Given the description of an element on the screen output the (x, y) to click on. 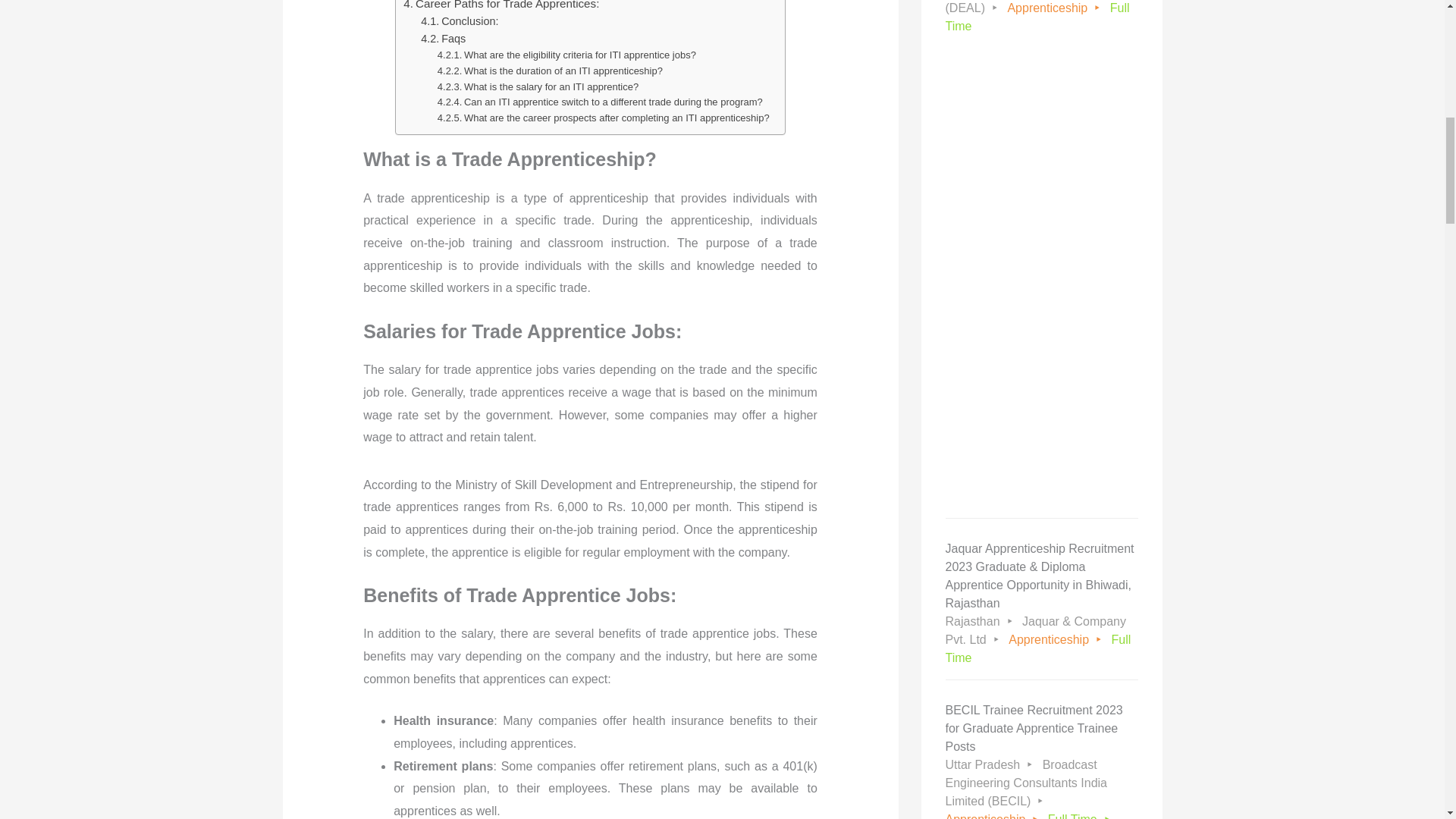
What are the eligibility criteria for ITI apprentice jobs? (566, 55)
Faqs (442, 38)
Conclusion: (458, 21)
What is the salary for an ITI apprentice? (538, 87)
Career Paths for Trade Apprentices: (500, 6)
Conclusion: (458, 21)
What are the eligibility criteria for ITI apprentice jobs? (566, 55)
Faqs (442, 38)
What is the salary for an ITI apprentice? (538, 87)
What is the duration of an ITI apprenticeship? (550, 71)
What is the duration of an ITI apprenticeship? (550, 71)
